Given the description of an element on the screen output the (x, y) to click on. 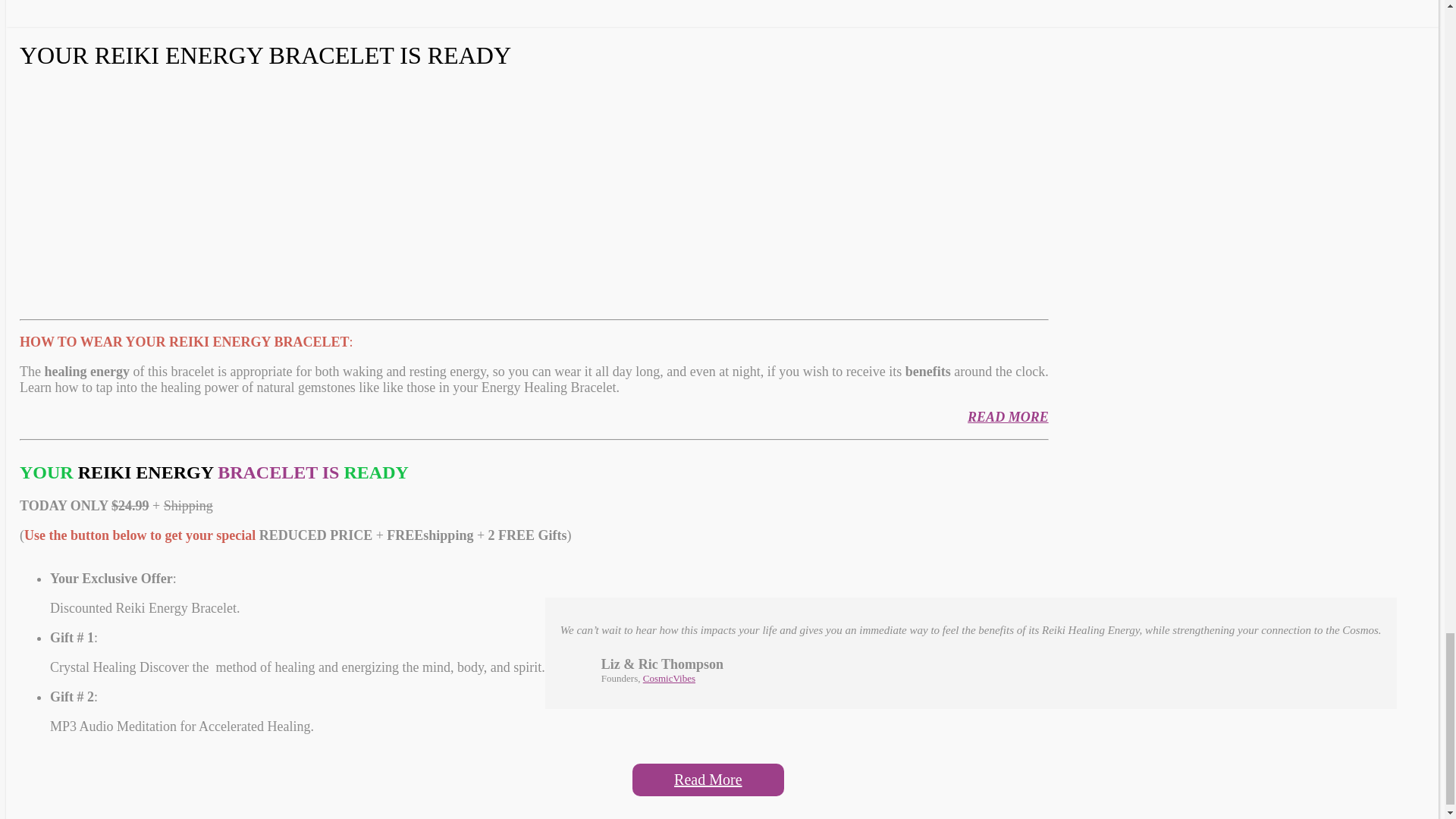
Free Chakra Bracelet (212, 186)
